Given the description of an element on the screen output the (x, y) to click on. 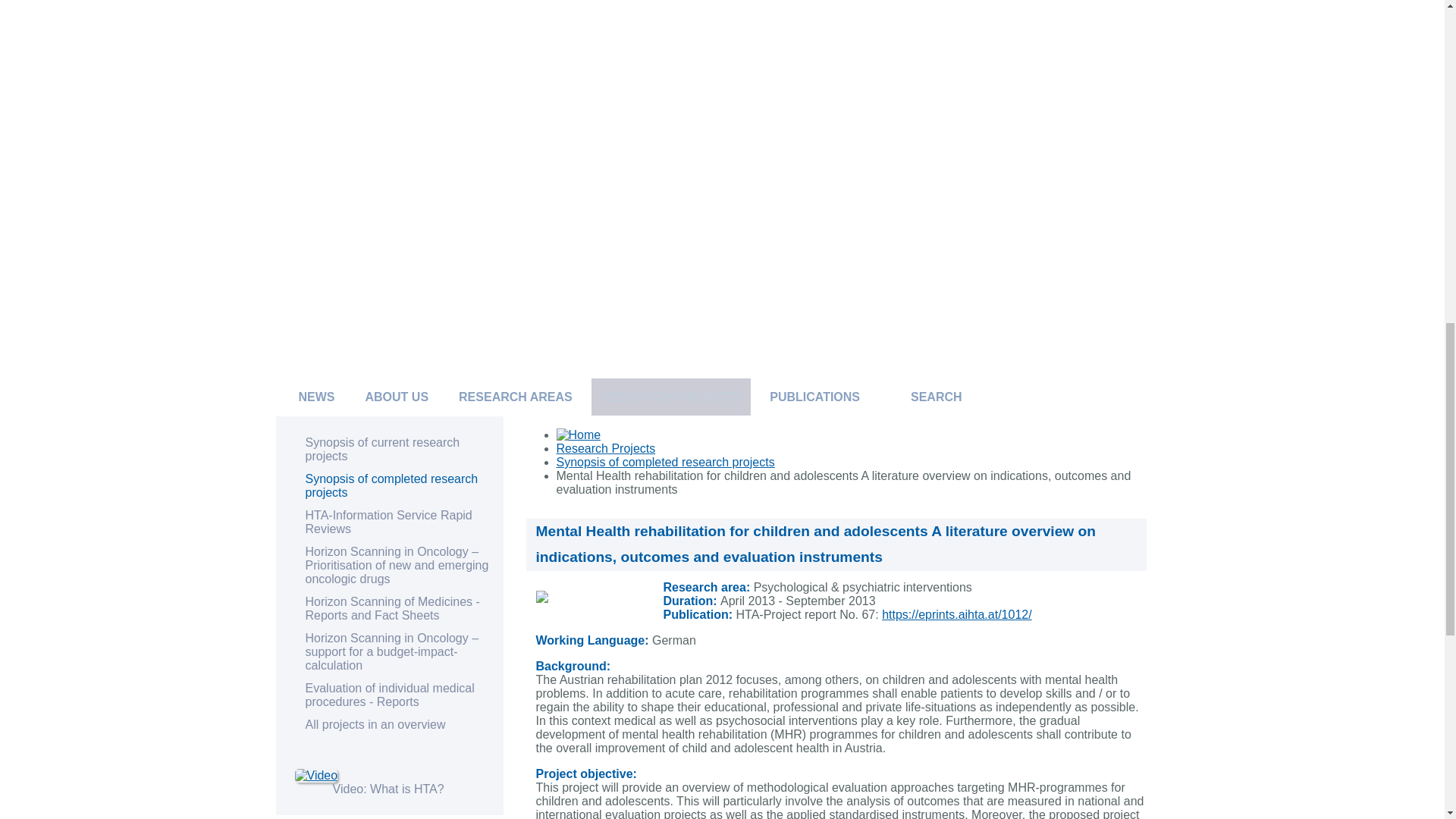
HTA-Information Service Rapid Reviews (387, 521)
RESEARCH PROJECTS (671, 396)
Video: What is HTA? (388, 788)
PUBLICATIONS (814, 396)
SEARCH (936, 396)
Synopsis of current research projects (382, 448)
RESEARCH AREAS (514, 396)
Horizon Scanning of Medicines - Reports and Fact Sheets (391, 608)
NEWS (316, 396)
Research Projects (606, 448)
